Given the description of an element on the screen output the (x, y) to click on. 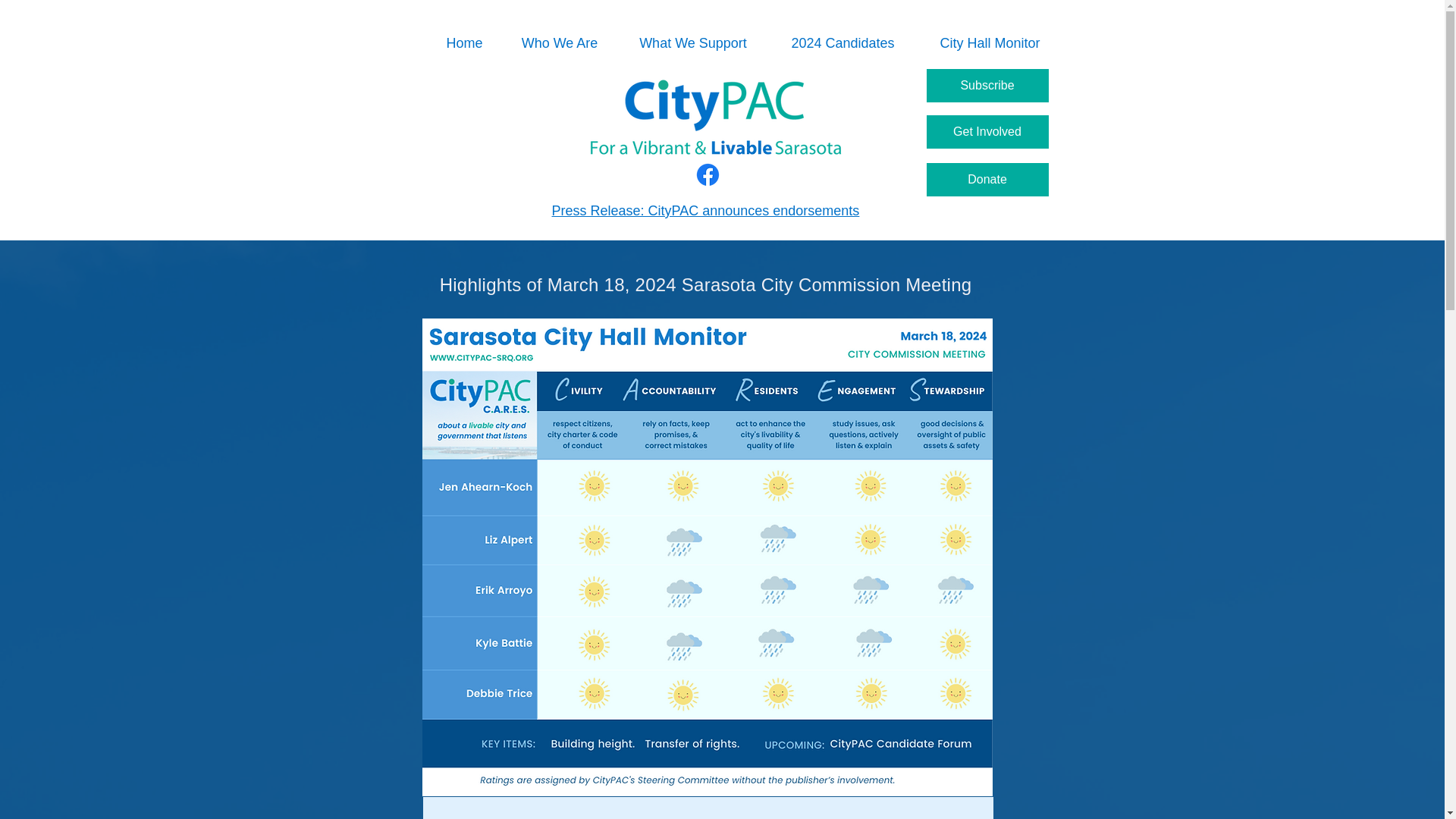
2024 Candidates (842, 43)
Donate (987, 179)
Who We Are (559, 43)
Subscribe (987, 85)
Home (465, 43)
Press Release: CityPAC announces endorsements (705, 210)
City Hall Monitor (989, 43)
Get Involved (987, 131)
What We Support (692, 43)
